Given the description of an element on the screen output the (x, y) to click on. 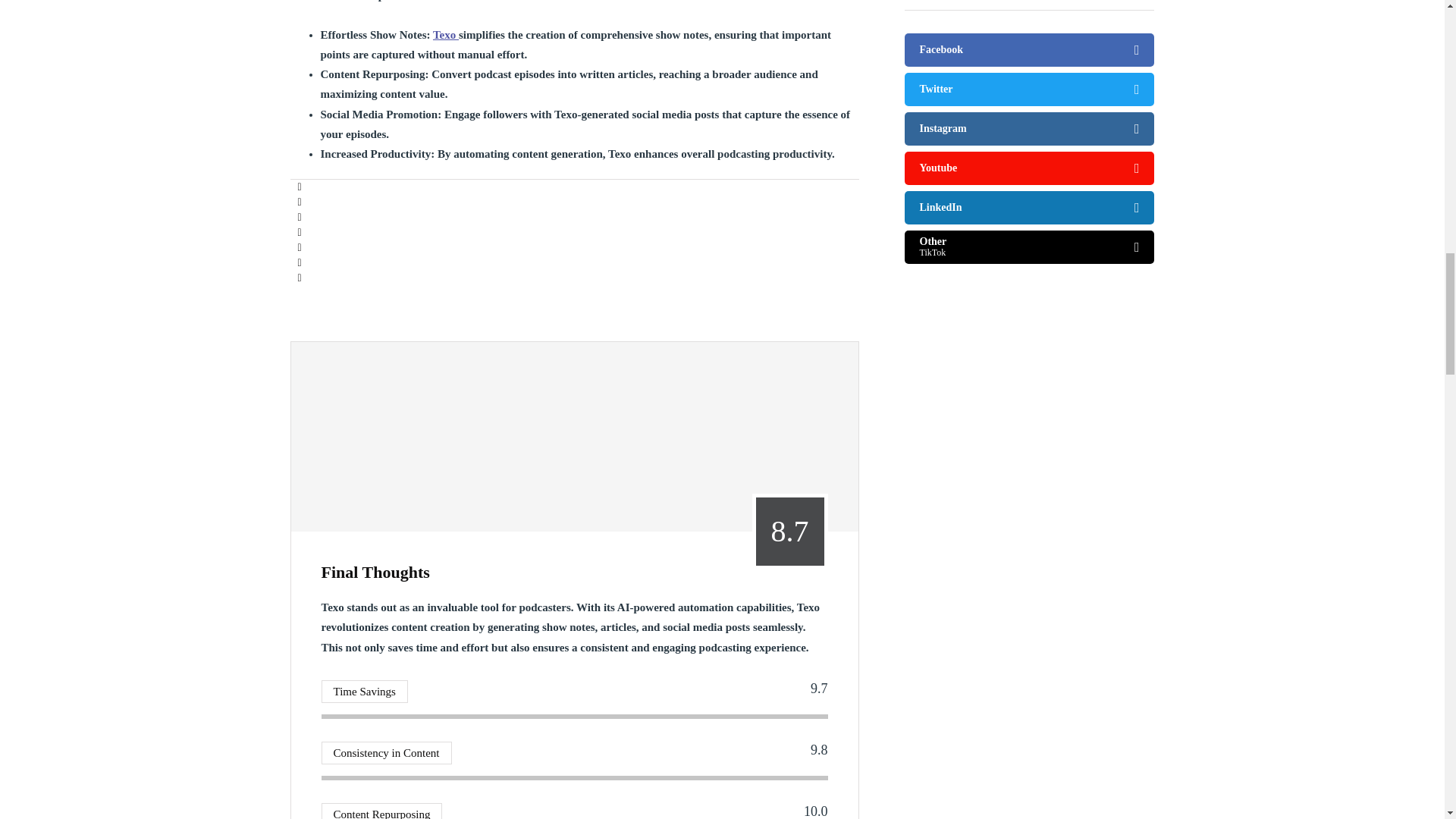
Tweet this (298, 201)
Share to Telegram (298, 247)
Share to WhatsApp (298, 232)
Share with Facebook (298, 186)
Share with LinkedIn (298, 217)
